Given the description of an element on the screen output the (x, y) to click on. 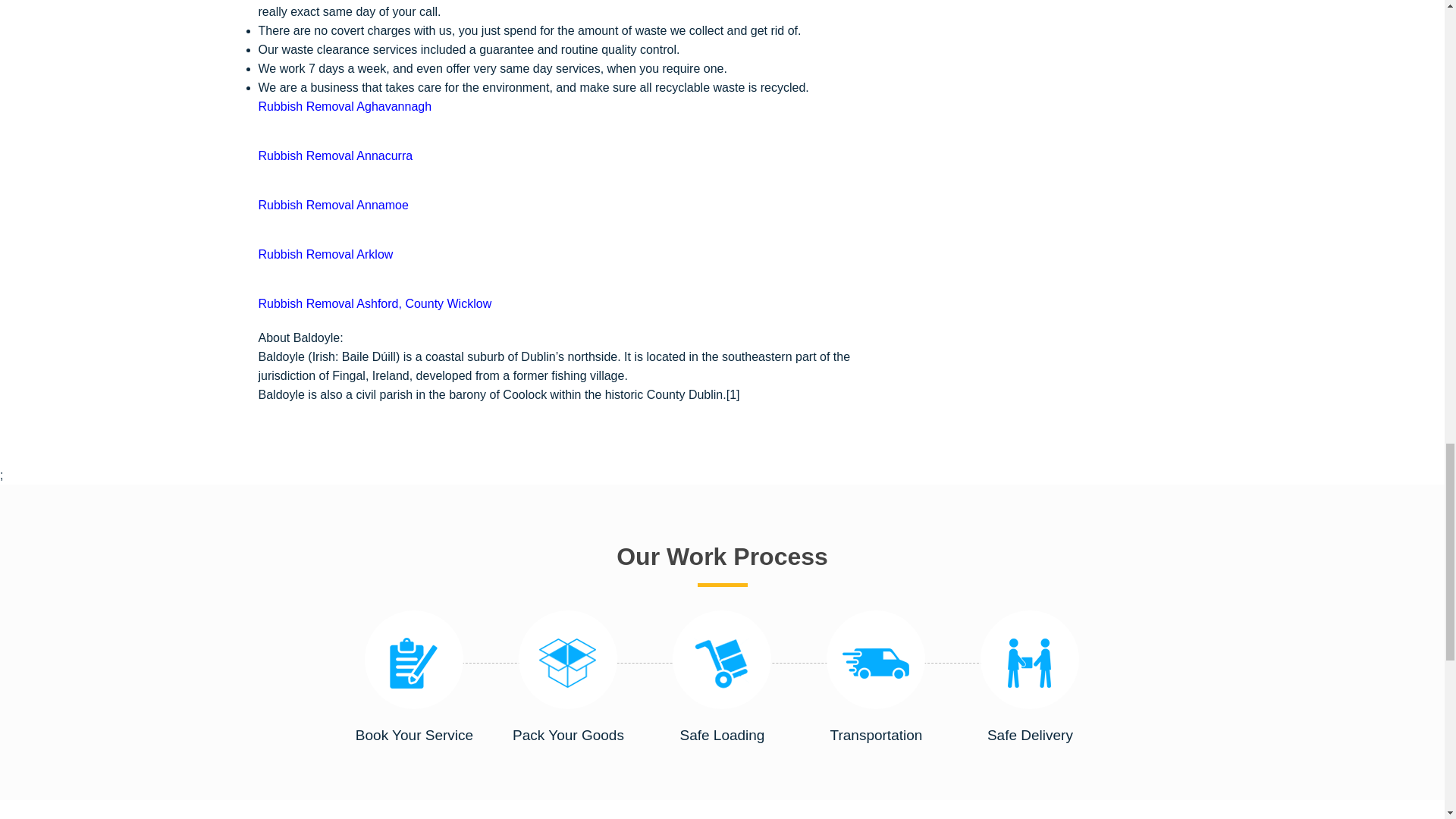
Rubbish Removal Arklow (325, 254)
Rubbish Removal Ashford, County Wicklow (374, 303)
Rubbish Removal Annacurra (334, 155)
Rubbish Removal Annamoe (332, 205)
Rubbish Removal Aghavannagh (343, 106)
Rubbish Removal Annamoe (332, 205)
Rubbish Removal Aghavannagh (343, 106)
Rubbish Removal Annacurra (334, 155)
